Given the description of an element on the screen output the (x, y) to click on. 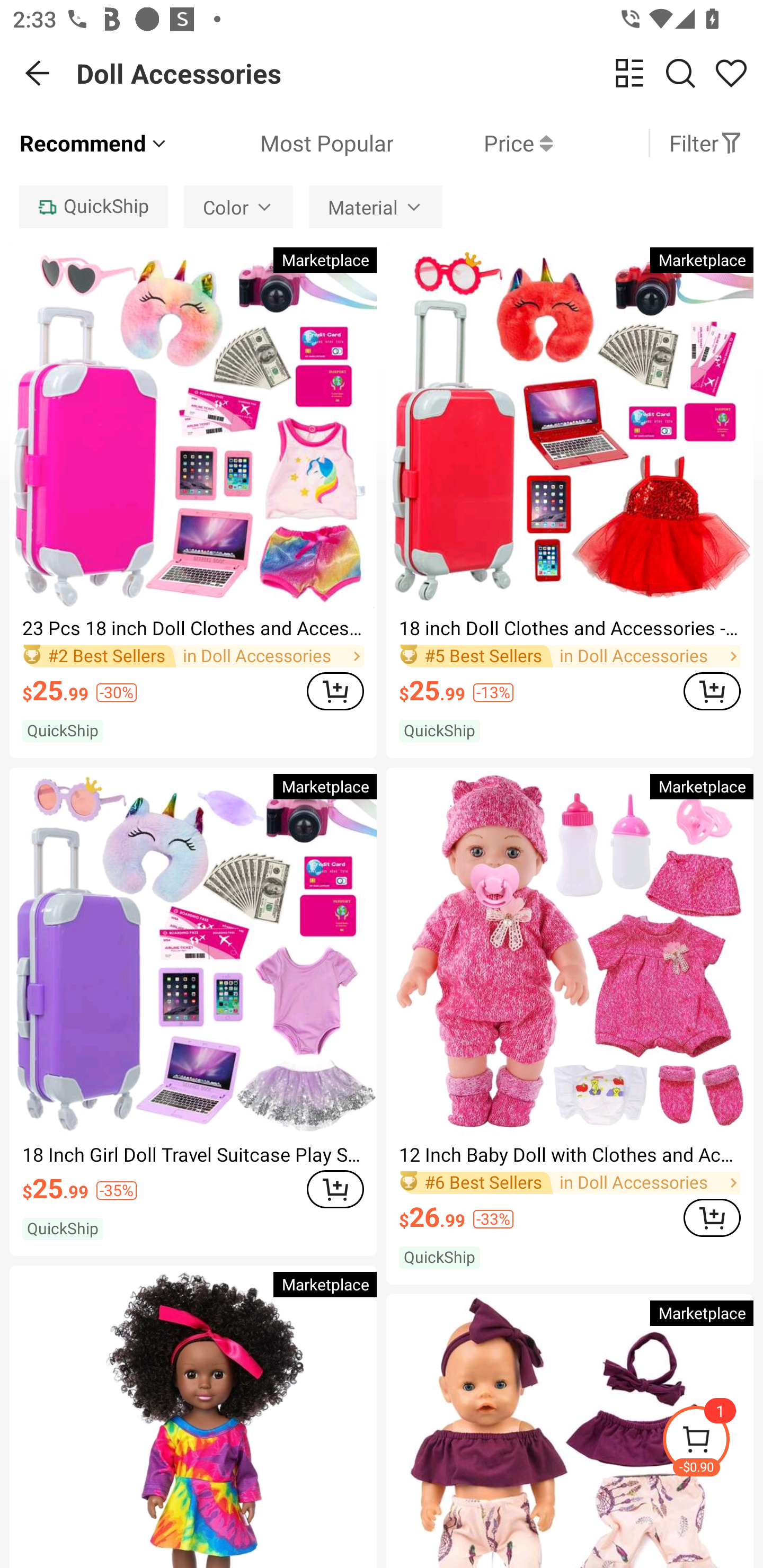
Doll Accessories change view Search Share (419, 72)
change view (629, 72)
Search (679, 72)
Share (730, 72)
Recommend (94, 143)
Most Popular (280, 143)
Price (472, 143)
Filter (705, 143)
QuickShip (93, 206)
Color (237, 206)
Material (375, 206)
#2 Best Sellers in Doll Accessories (192, 655)
#5 Best Sellers in Doll Accessories (569, 655)
ADD TO CART (334, 691)
ADD TO CART (711, 691)
ADD TO CART (334, 1188)
#6 Best Sellers in Doll Accessories (569, 1181)
ADD TO CART (711, 1218)
-$0.90 (712, 1441)
